Given the description of an element on the screen output the (x, y) to click on. 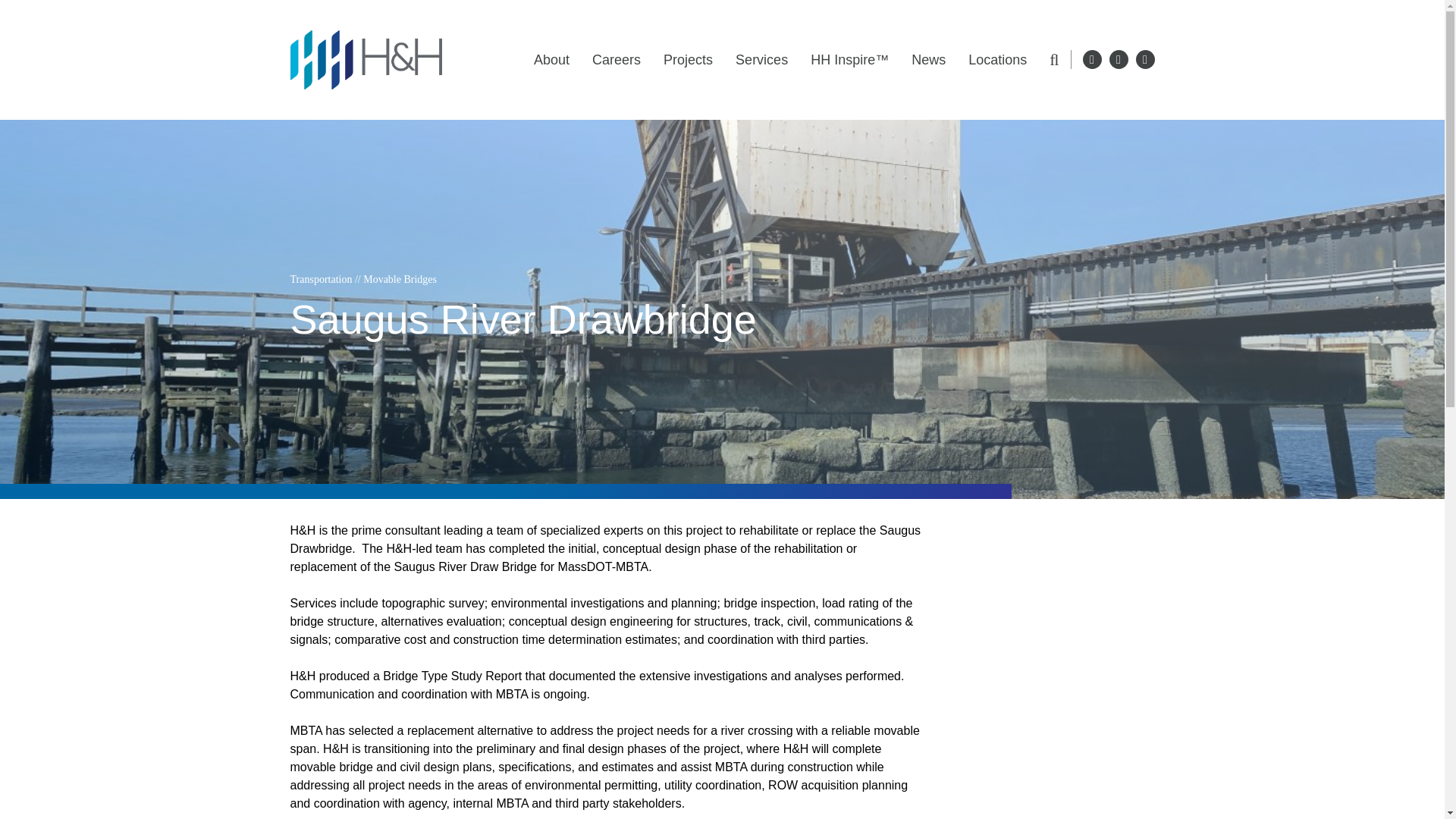
About (551, 59)
Careers (616, 59)
Services (761, 59)
News (927, 59)
Projects (688, 59)
